Given the description of an element on the screen output the (x, y) to click on. 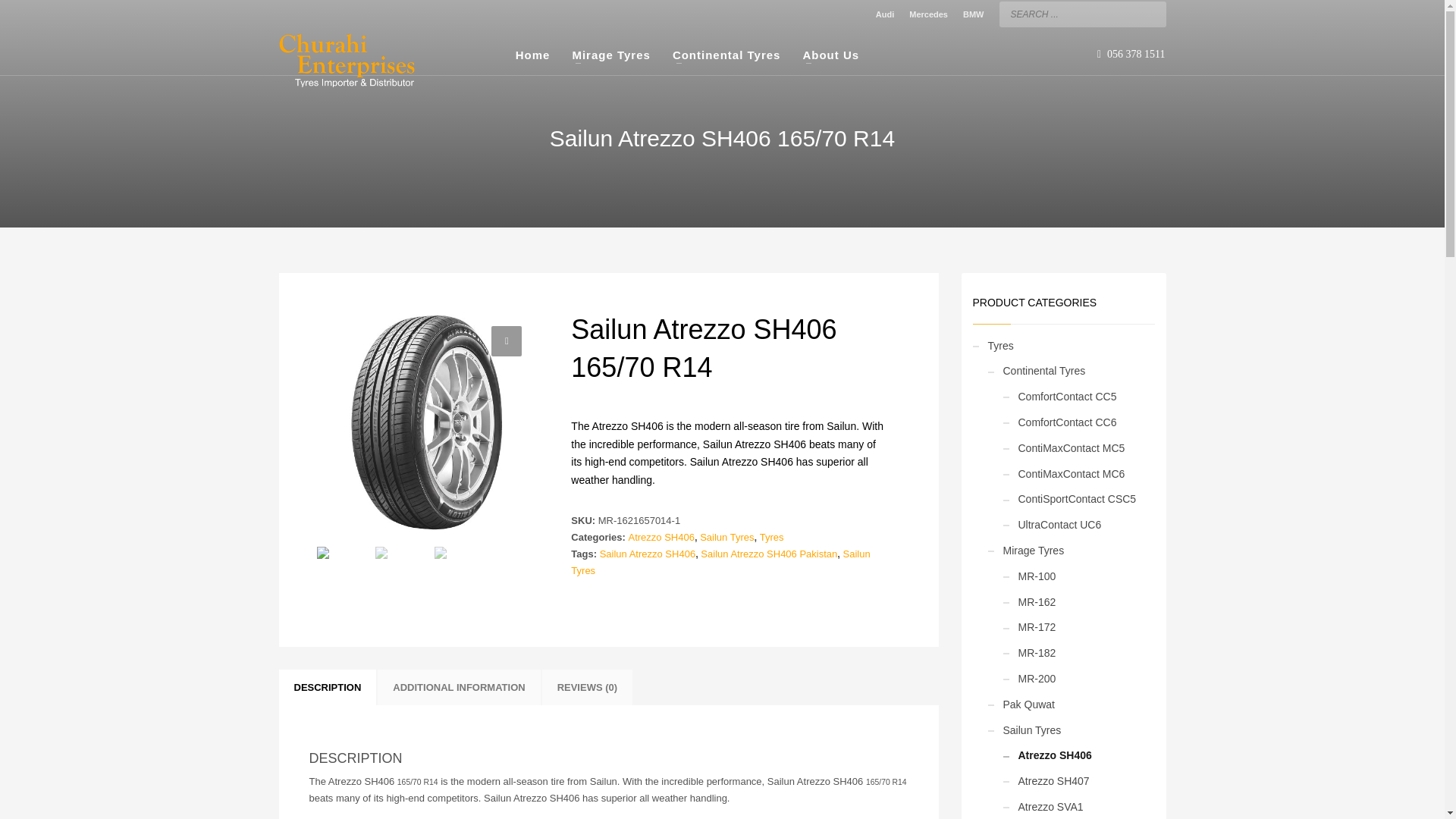
Continental Tyres (726, 54)
About Us (830, 54)
Atrezzo SH406 (660, 536)
Sailun Tyres (727, 536)
Sailun Atrezzo SH406 (647, 553)
Tyres (772, 536)
Atrezzo SH-406 1 (427, 421)
056 378 1511 (1131, 54)
go (1150, 12)
Audi (884, 13)
ADDITIONAL INFORMATION (458, 687)
Sailun Tyres (719, 561)
Mercedes (927, 13)
DESCRIPTION (328, 687)
